Given the description of an element on the screen output the (x, y) to click on. 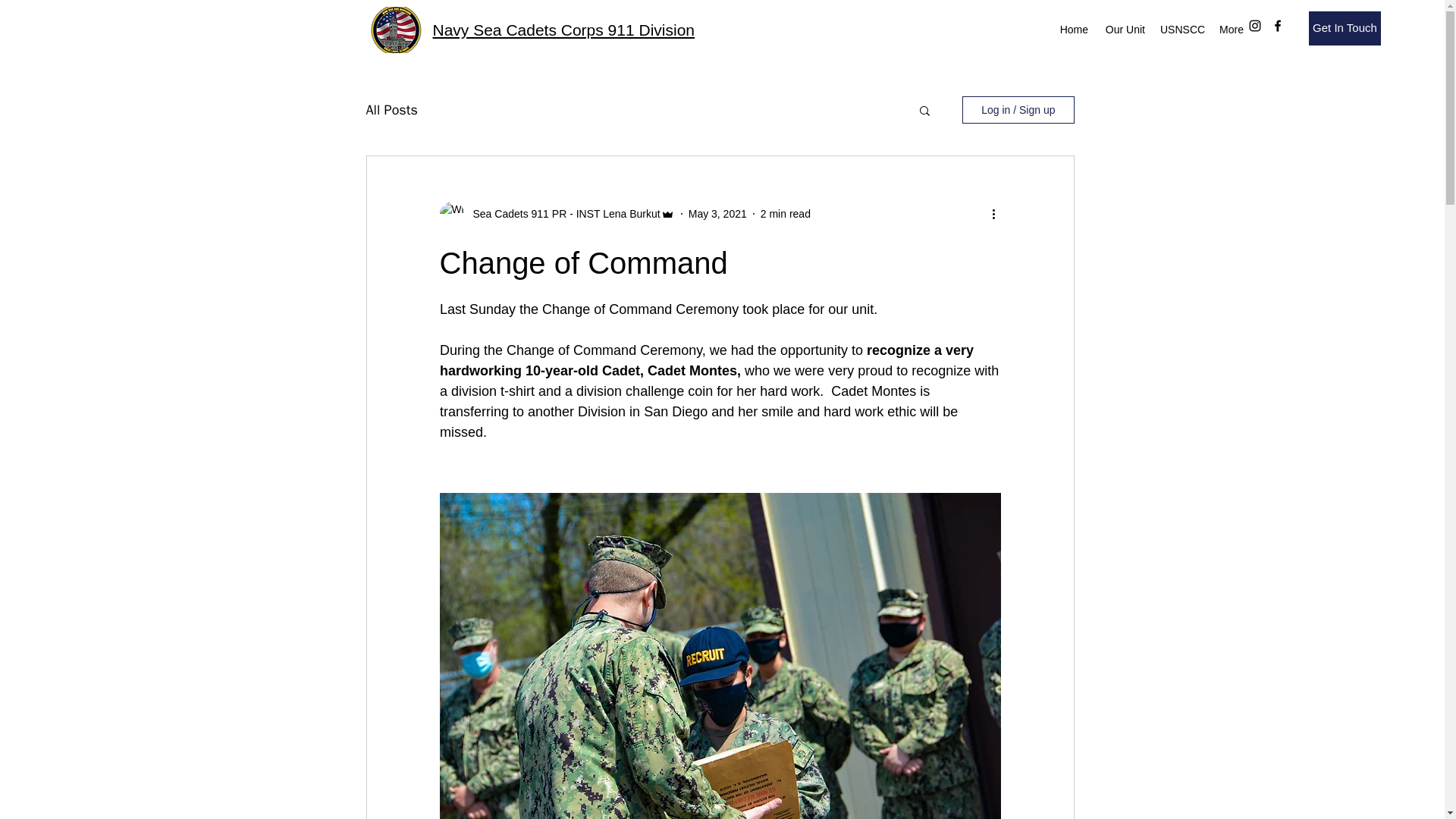
Home (1073, 29)
Navy Sea Cadets Corps 911 Division (563, 29)
All Posts (390, 109)
Get In Touch (1344, 28)
USNSCC (1182, 29)
May 3, 2021 (717, 214)
2 min read (785, 214)
Our Unit (1124, 29)
Sea Cadets 911 PR - INST Lena Burkut (562, 213)
